Given the description of an element on the screen output the (x, y) to click on. 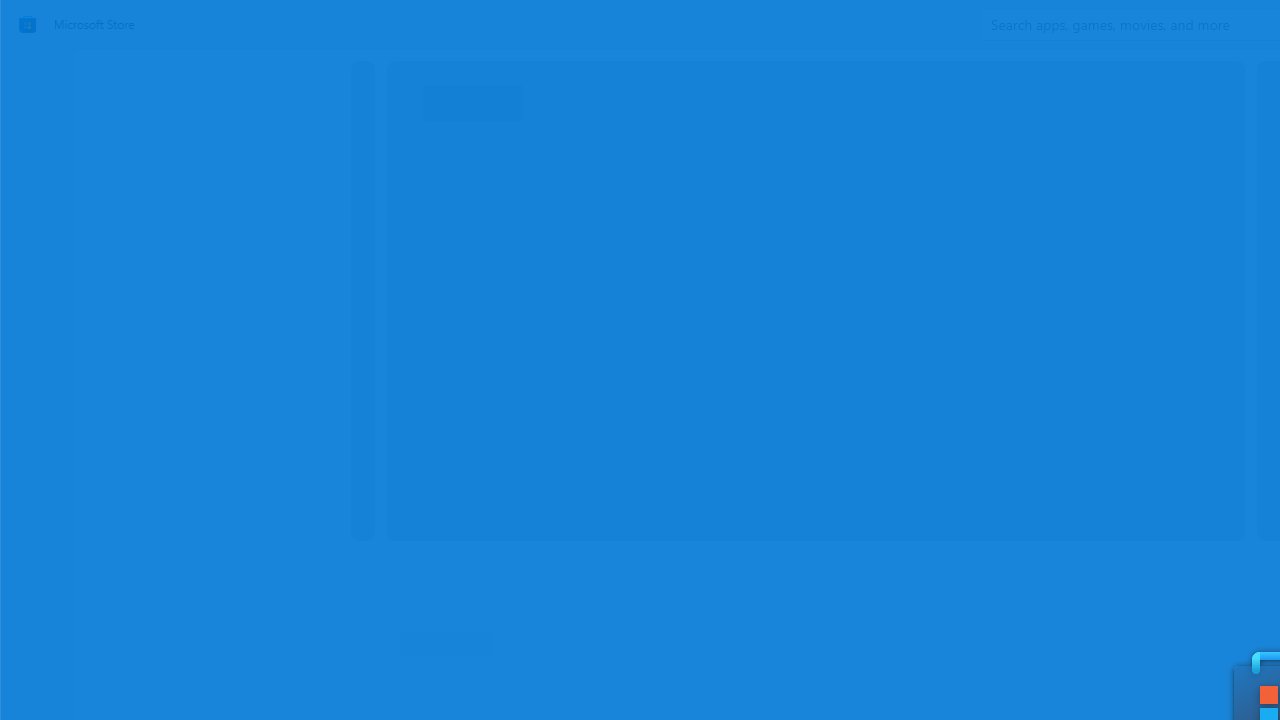
Class: Hyperlink (403, 606)
